Given the description of an element on the screen output the (x, y) to click on. 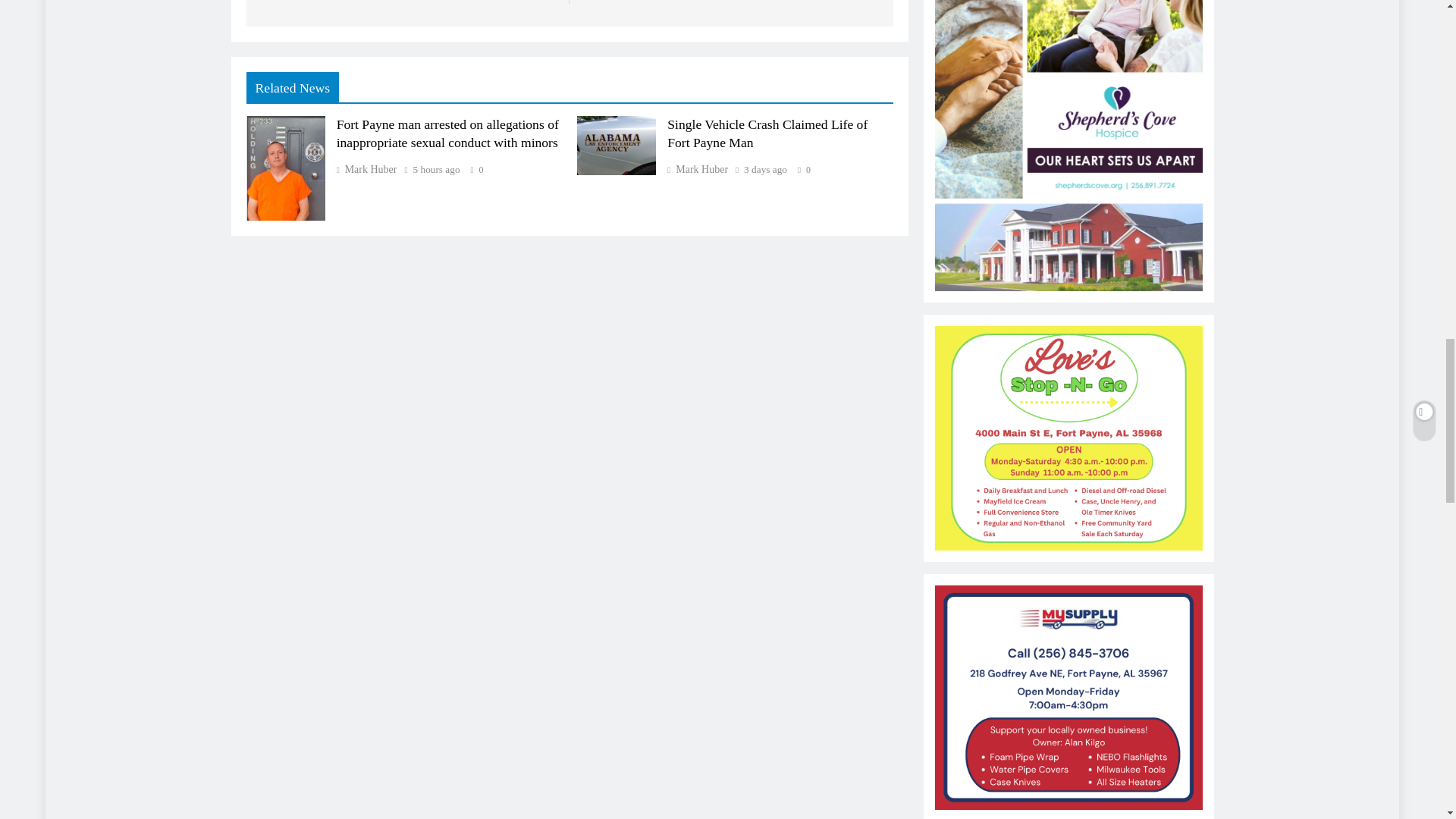
3 days ago (765, 169)
Mark Huber (697, 169)
5 hours ago (436, 169)
Mark Huber (366, 169)
Single Vehicle Crash Claimed Life of Fort Payne Man (766, 133)
